Given the description of an element on the screen output the (x, y) to click on. 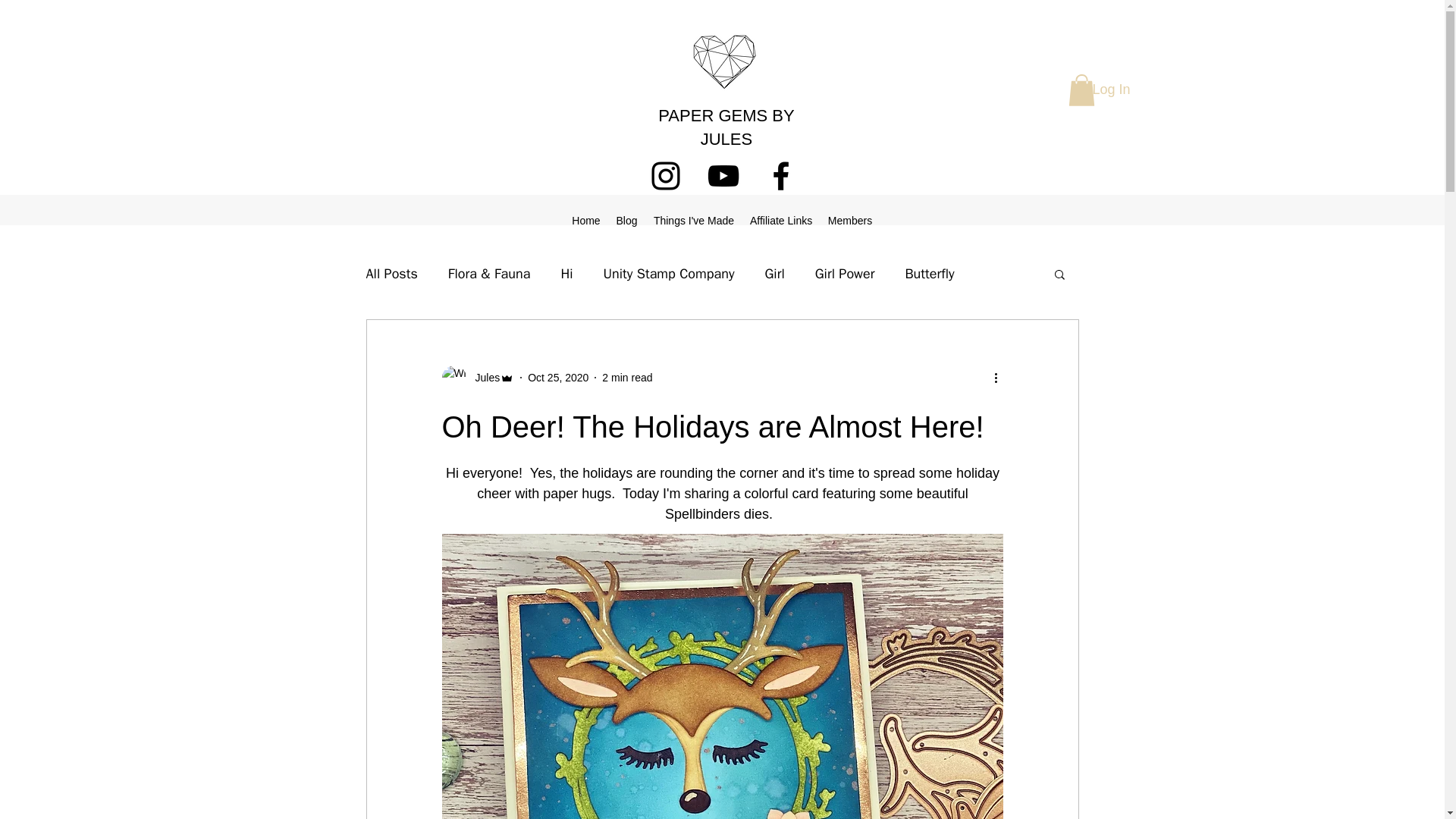
Butterfly (928, 273)
Affiliate Links (780, 220)
Log In (1110, 90)
PAPER GEMS BY JULES (725, 127)
Members (849, 220)
2 min read (627, 377)
Oct 25, 2020 (557, 377)
Girl Power (845, 273)
Things I've Made (693, 220)
All Posts (390, 273)
